Given the description of an element on the screen output the (x, y) to click on. 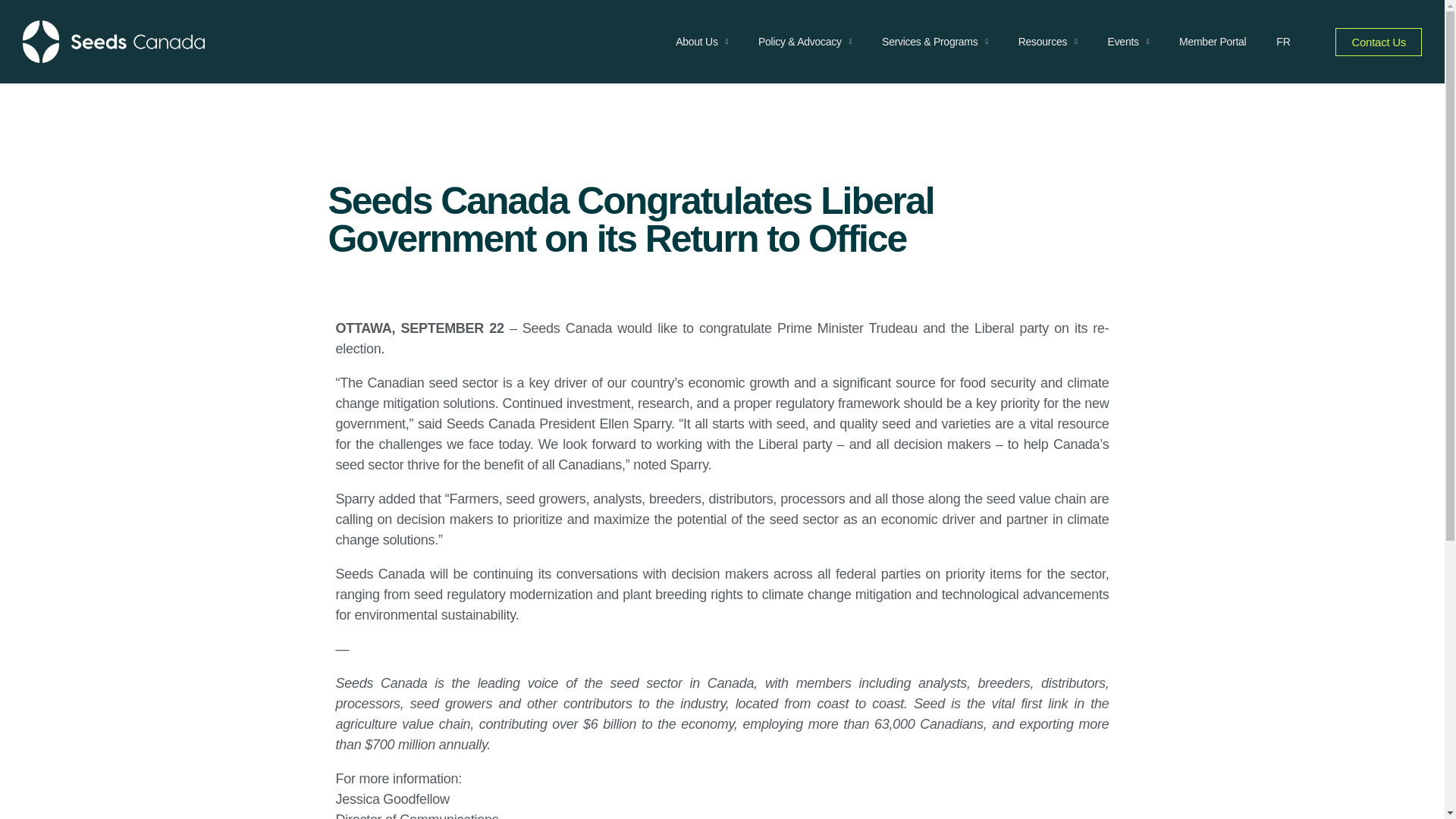
About Us (701, 41)
About Us (701, 41)
Member Portal (1211, 41)
FR (1282, 41)
Events (1128, 41)
Resources (1048, 41)
